Given the description of an element on the screen output the (x, y) to click on. 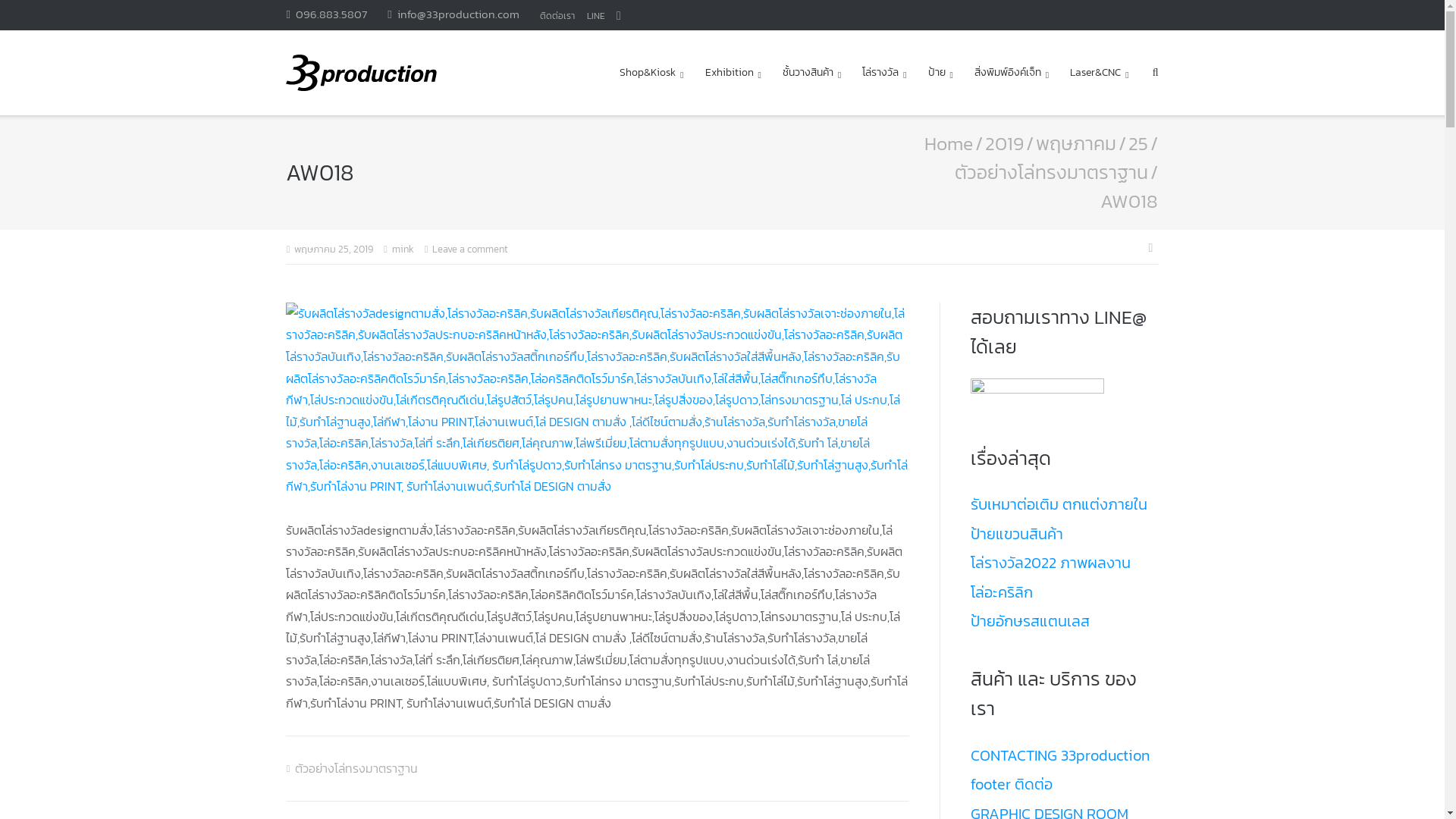
info@33production.com Element type: text (453, 14)
Laser&CNC Element type: text (1099, 72)
mink Element type: text (403, 248)
Leave a comment Element type: text (470, 248)
Home Element type: text (947, 142)
096.883.5807 Element type: text (326, 14)
Exhibition Element type: text (733, 72)
CONTACTING 33production Element type: text (1059, 754)
25 Element type: text (1138, 142)
facbook Element type: text (618, 15)
2019 Element type: text (1003, 142)
LINE Element type: text (595, 15)
Shop&Kiosk Element type: text (651, 72)
